Given the description of an element on the screen output the (x, y) to click on. 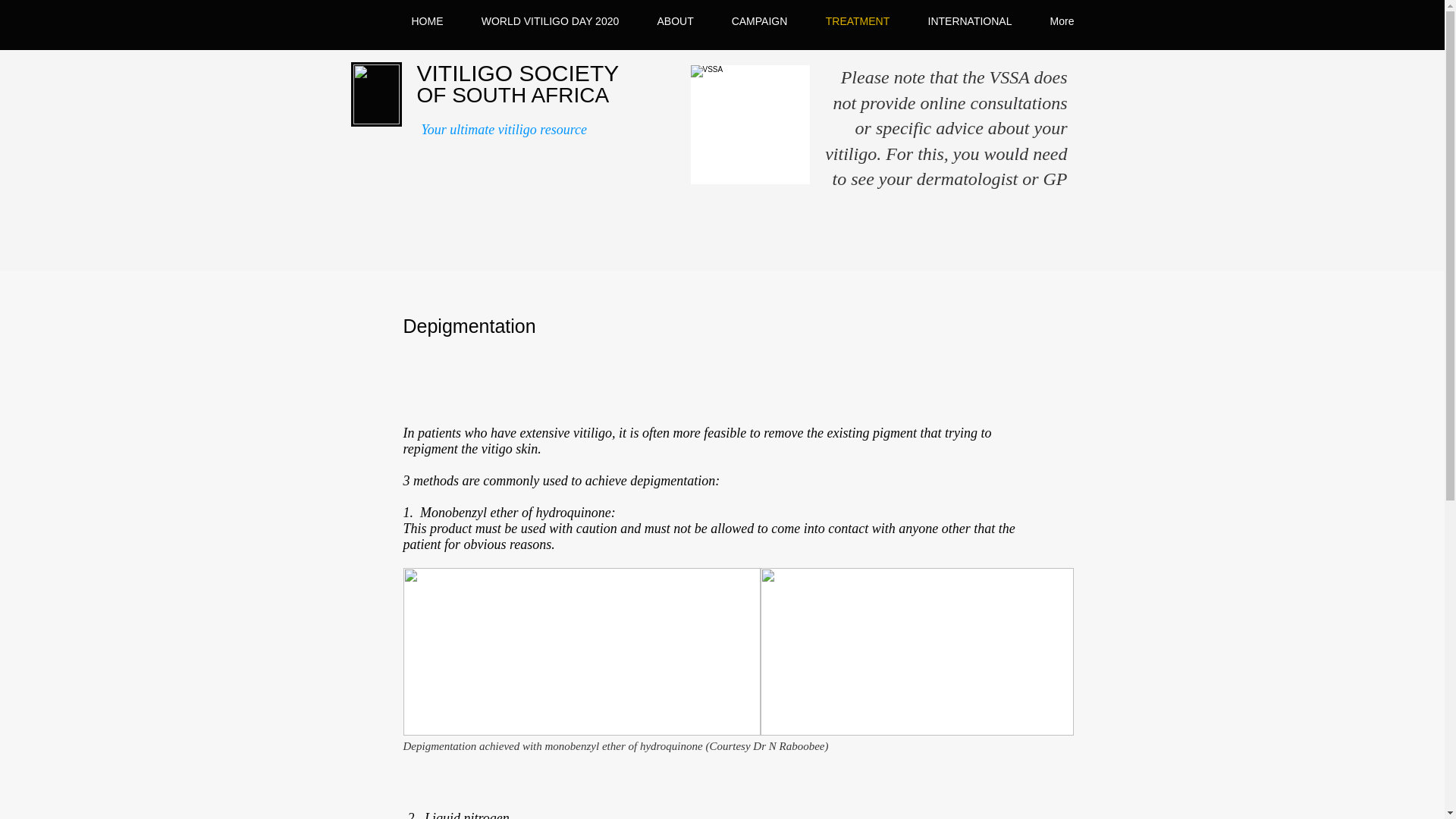
CAMPAIGN (759, 21)
WORLD VITILIGO DAY 2020 (551, 21)
INTERNATIONAL (969, 21)
TREATMENT (857, 21)
ABOUT (676, 21)
HOME (428, 21)
